Given the description of an element on the screen output the (x, y) to click on. 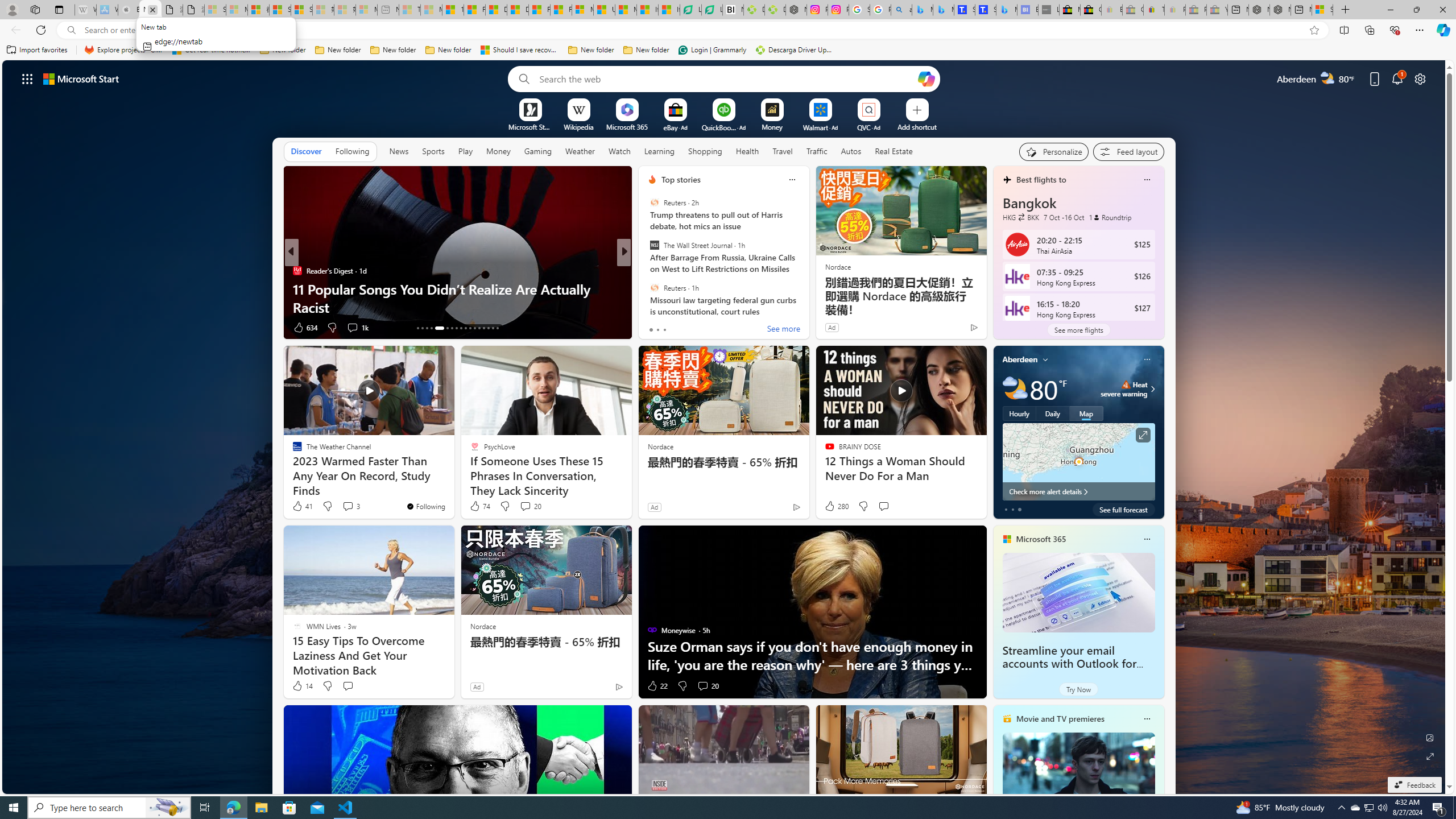
Marine life - MSN - Sleeping (431, 9)
Best flights to (1040, 179)
AutomationID: tab-17 (439, 328)
tab-2 (1019, 509)
AutomationID: backgroundImagePicture (723, 426)
